Given the description of an element on the screen output the (x, y) to click on. 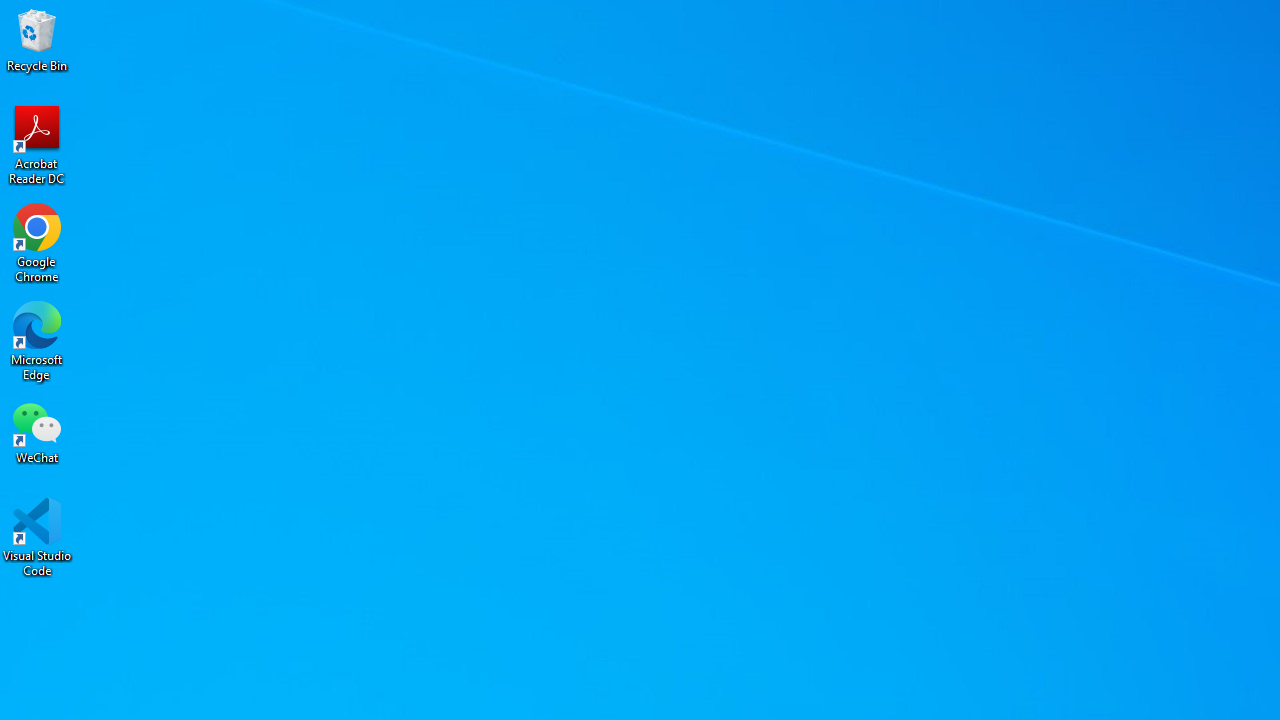
WeChat (37, 431)
Microsoft Edge (37, 340)
Recycle Bin (37, 39)
Acrobat Reader DC (37, 144)
Visual Studio Code (37, 537)
Google Chrome (37, 242)
